Given the description of an element on the screen output the (x, y) to click on. 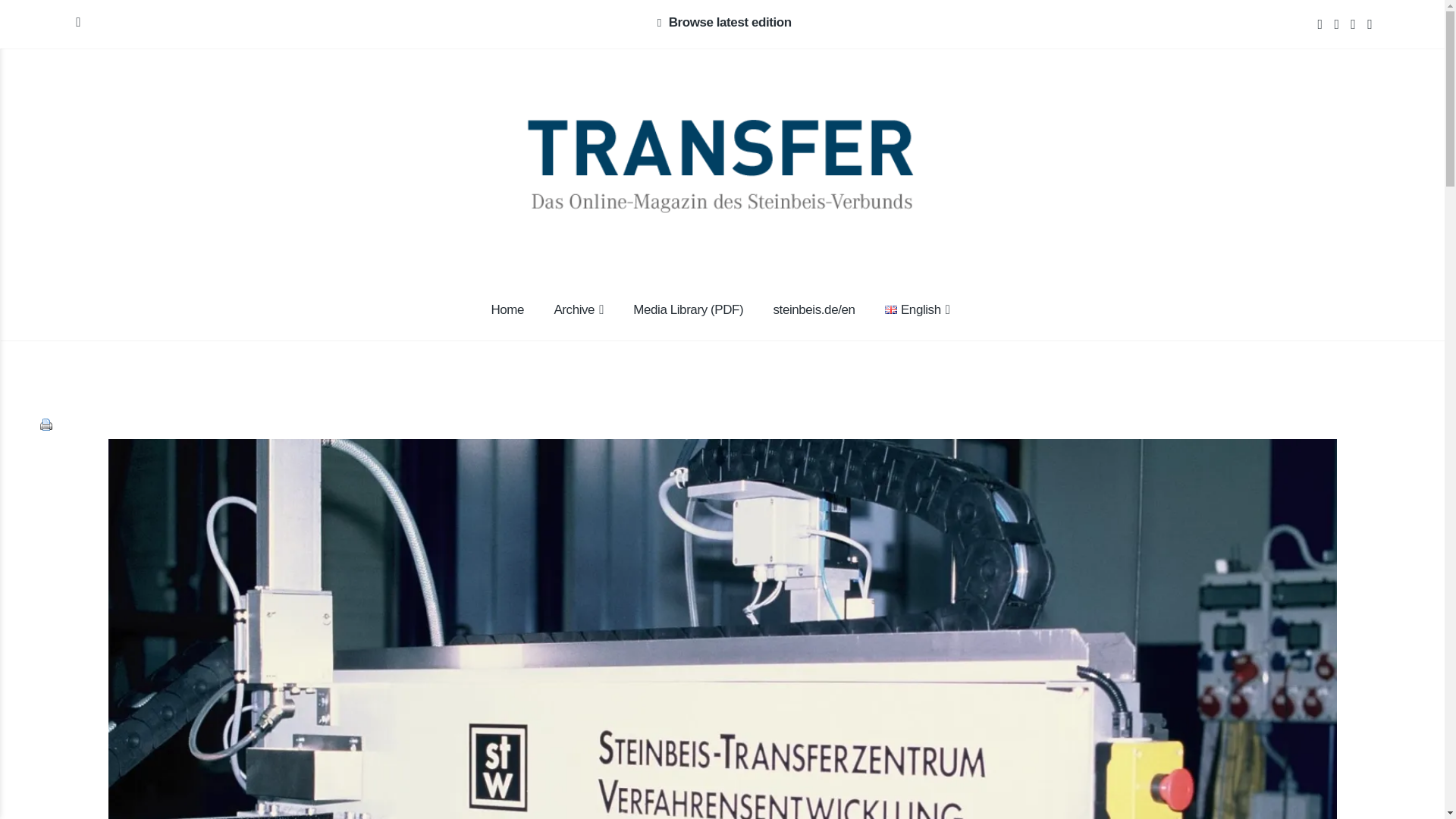
English (890, 309)
Steinbeis Transfer-Magazin (393, 179)
Home (507, 310)
Archive (578, 310)
